Given the description of an element on the screen output the (x, y) to click on. 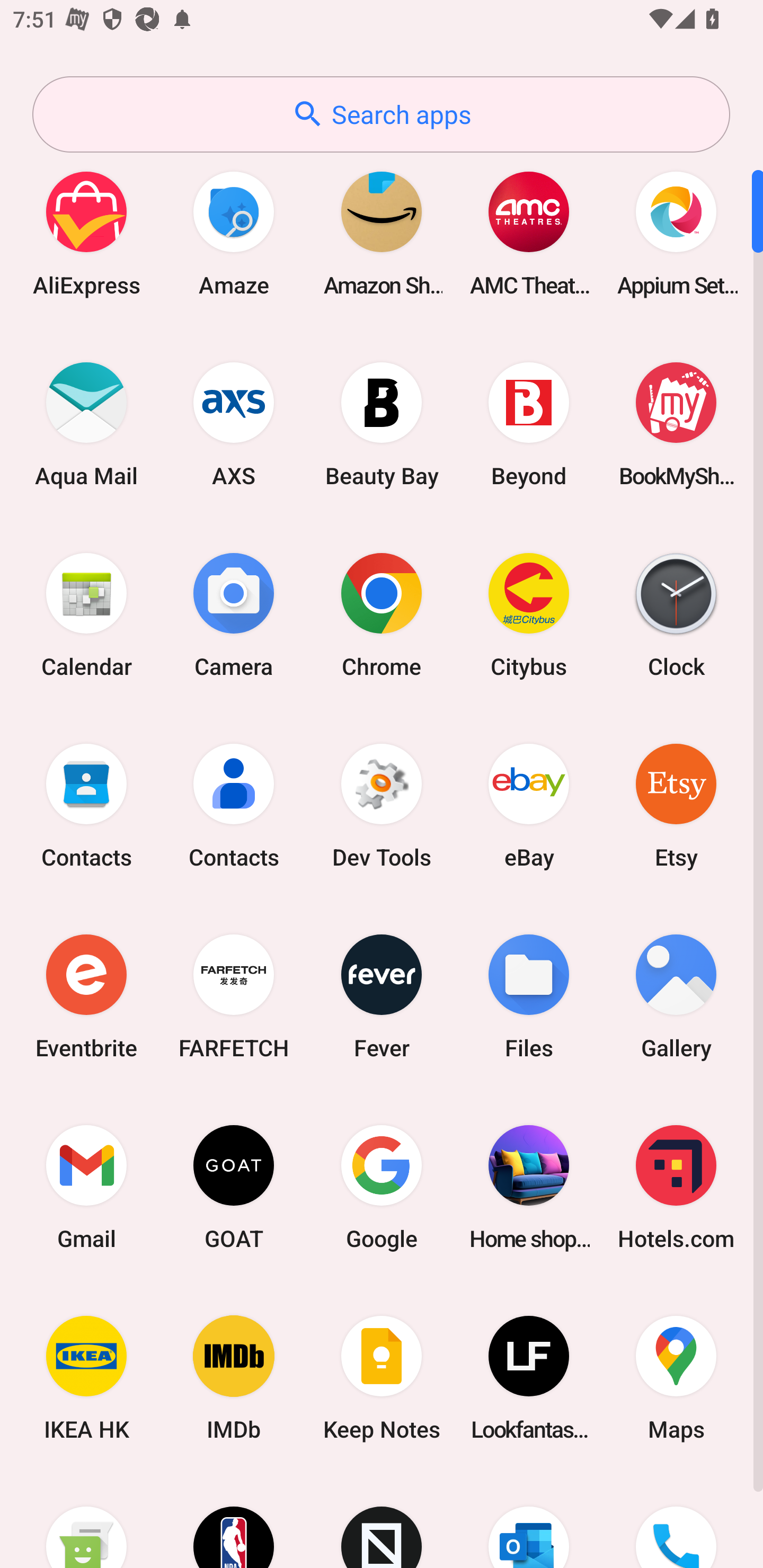
  Search apps (381, 114)
AliExpress (86, 233)
Amaze (233, 233)
Amazon Shopping (381, 233)
AMC Theatres (528, 233)
Appium Settings (676, 233)
Aqua Mail (86, 424)
AXS (233, 424)
Beauty Bay (381, 424)
Beyond (528, 424)
BookMyShow (676, 424)
Calendar (86, 614)
Camera (233, 614)
Chrome (381, 614)
Citybus (528, 614)
Clock (676, 614)
Contacts (86, 805)
Contacts (233, 805)
Dev Tools (381, 805)
eBay (528, 805)
Etsy (676, 805)
Eventbrite (86, 996)
FARFETCH (233, 996)
Fever (381, 996)
Files (528, 996)
Gallery (676, 996)
Gmail (86, 1186)
GOAT (233, 1186)
Google (381, 1186)
Home shopping (528, 1186)
Hotels.com (676, 1186)
IKEA HK (86, 1377)
IMDb (233, 1377)
Keep Notes (381, 1377)
Lookfantastic (528, 1377)
Maps (676, 1377)
